Given the description of an element on the screen output the (x, y) to click on. 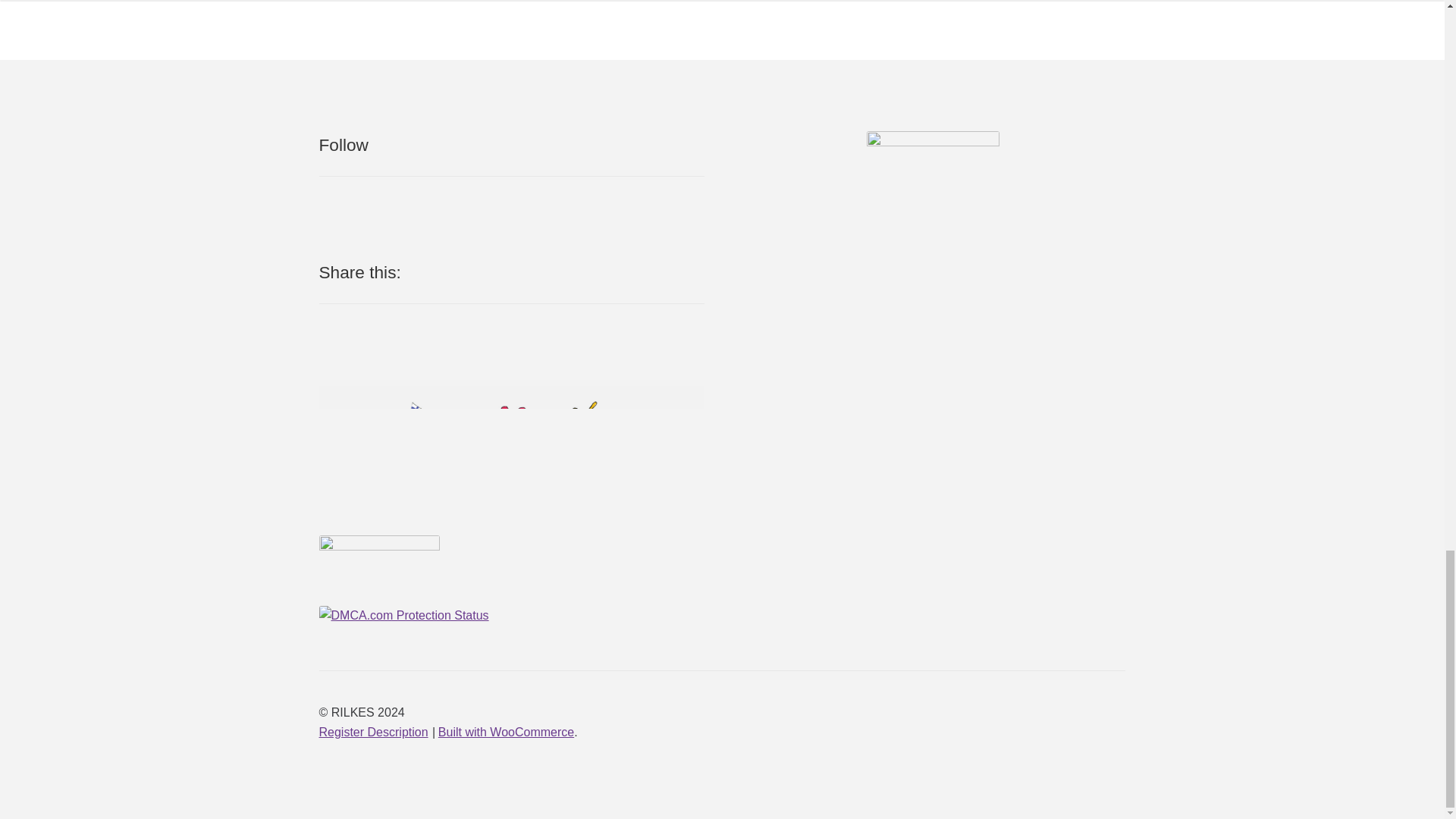
DMCA.com Protection Status (511, 615)
WooCommerce - The Best eCommerce Platform for WordPress (505, 731)
